Given the description of an element on the screen output the (x, y) to click on. 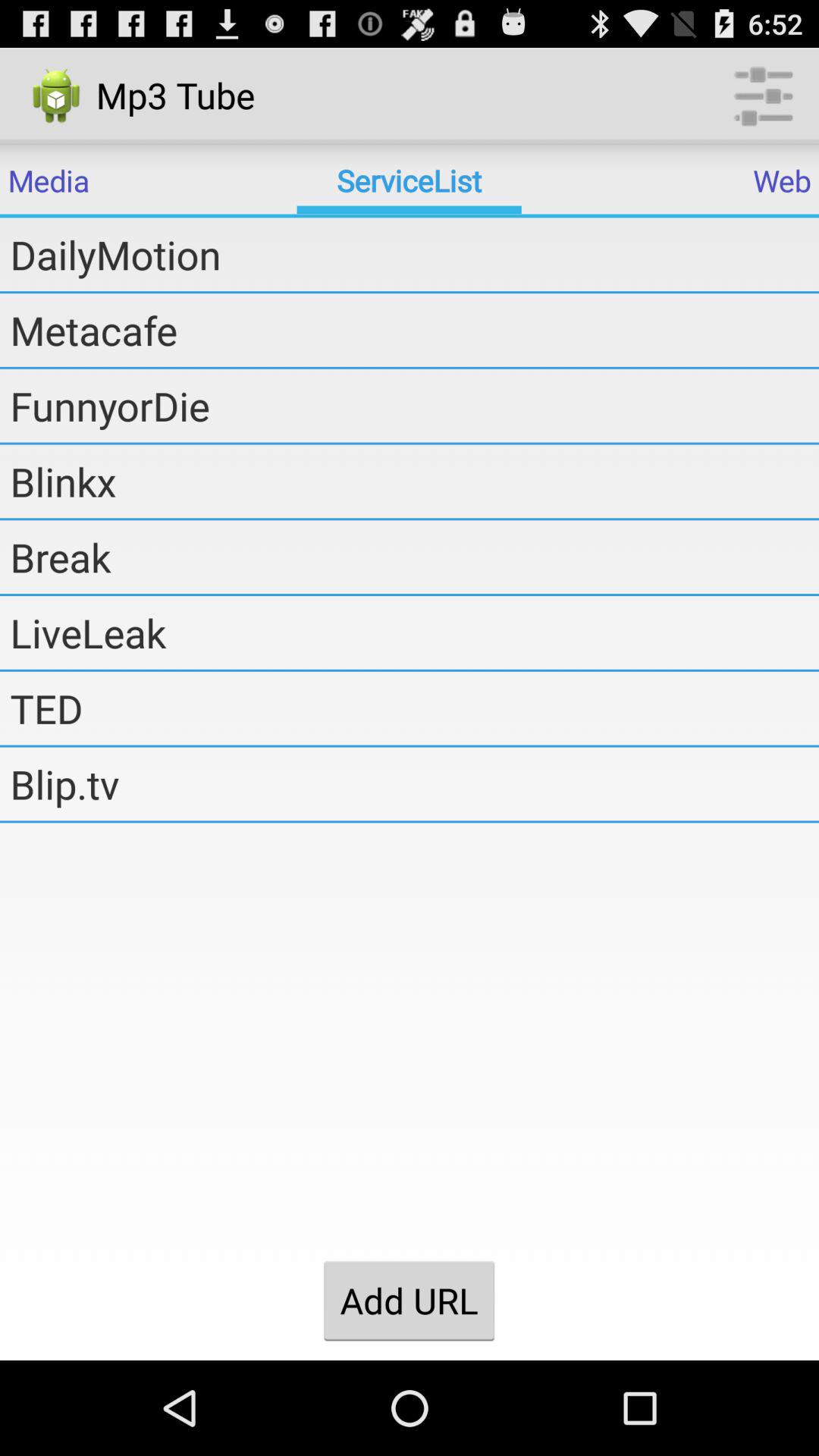
press the metacafe item (414, 329)
